Given the description of an element on the screen output the (x, y) to click on. 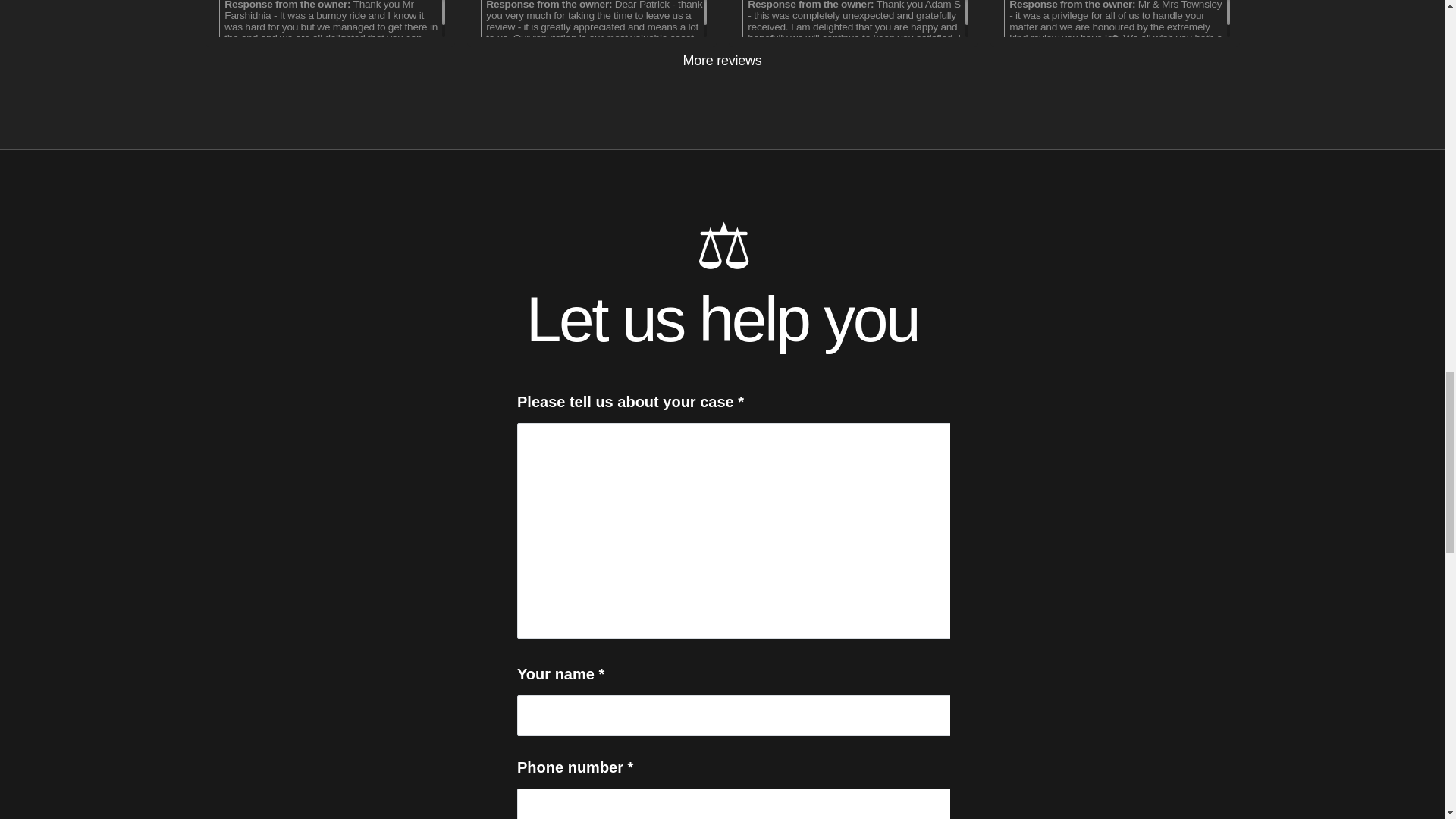
More reviews (722, 60)
